Given the description of an element on the screen output the (x, y) to click on. 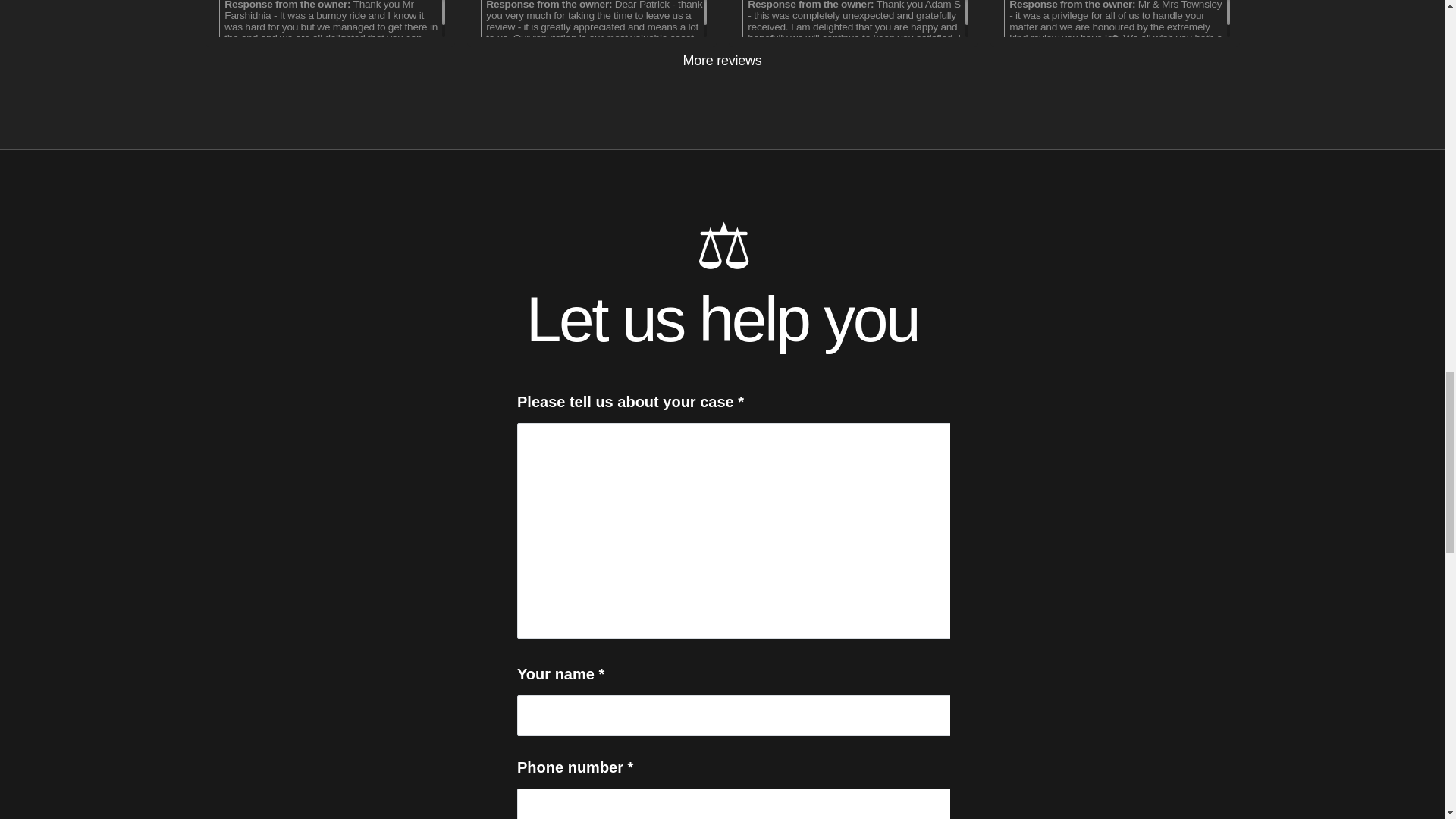
More reviews (722, 60)
